Given the description of an element on the screen output the (x, y) to click on. 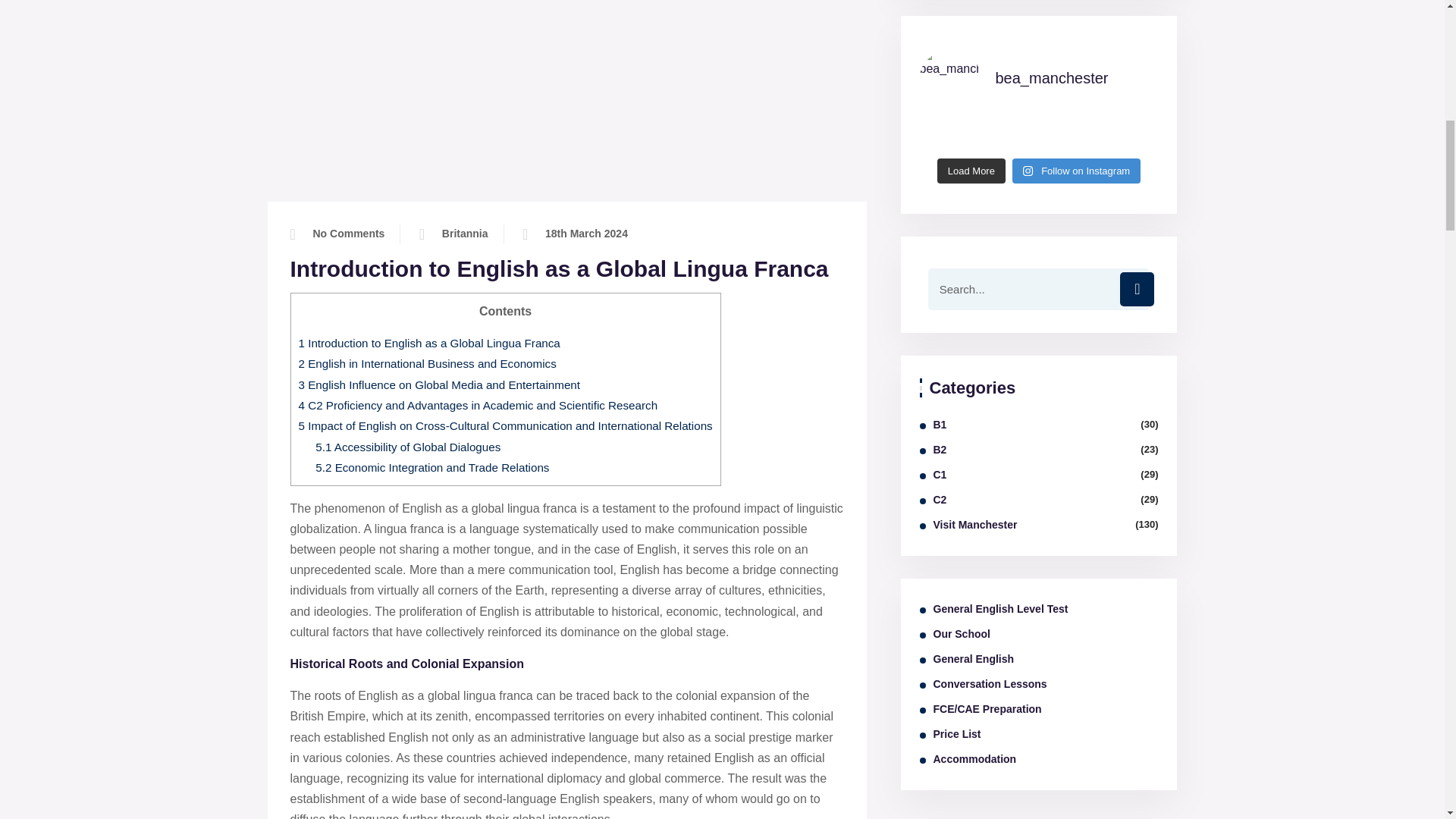
5.2 Economic Integration and Trade Relations (431, 467)
3 English Influence on Global Media and Entertainment (439, 384)
5.1 Accessibility of Global Dialogues (407, 446)
2 English in International Business and Economics (427, 363)
Britannia (464, 233)
1 Introduction to English as a Global Lingua Franca (429, 342)
